Given the description of an element on the screen output the (x, y) to click on. 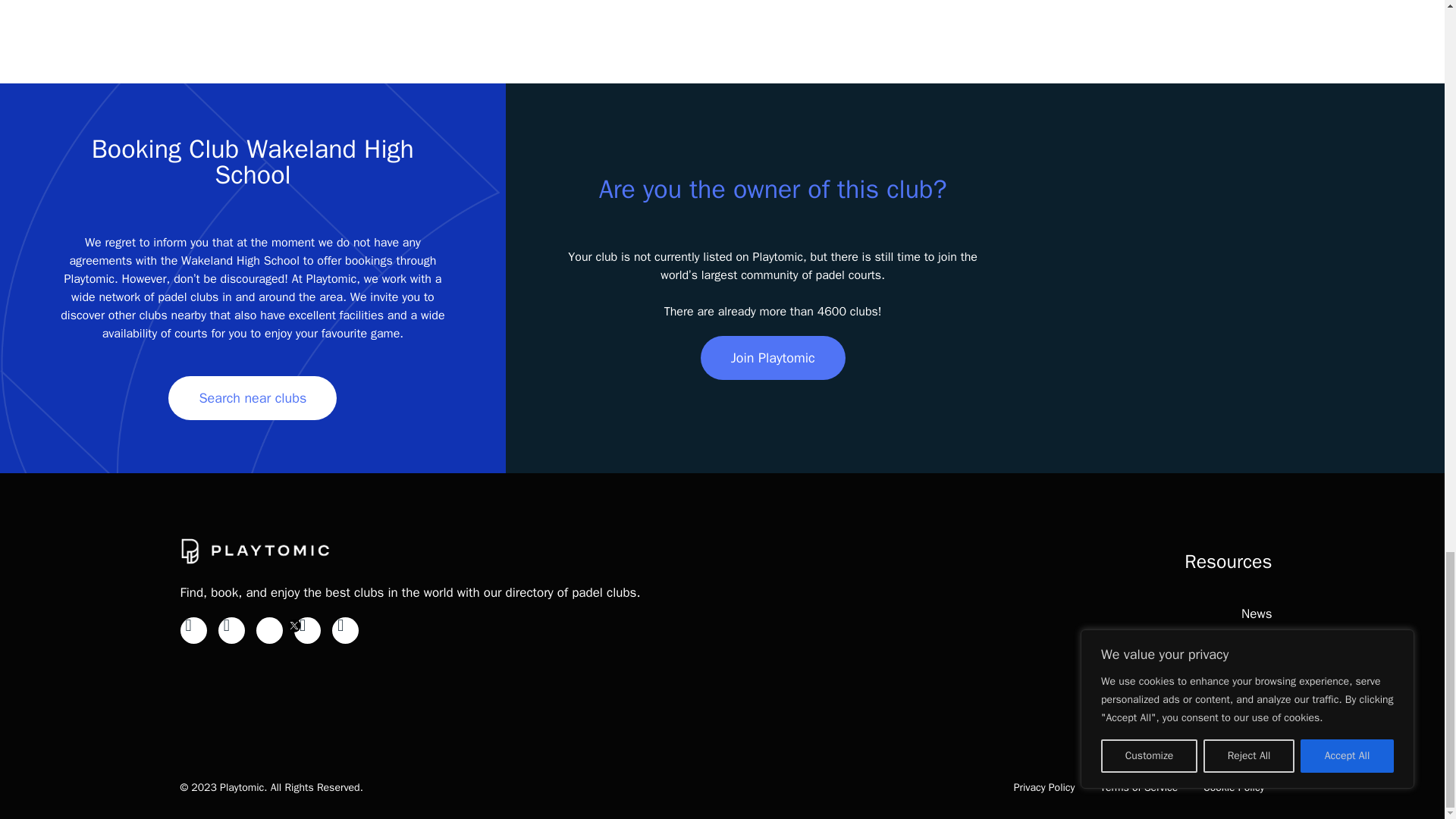
Search near clubs (252, 397)
News (1256, 613)
Join Playtomic (772, 357)
